Given the description of an element on the screen output the (x, y) to click on. 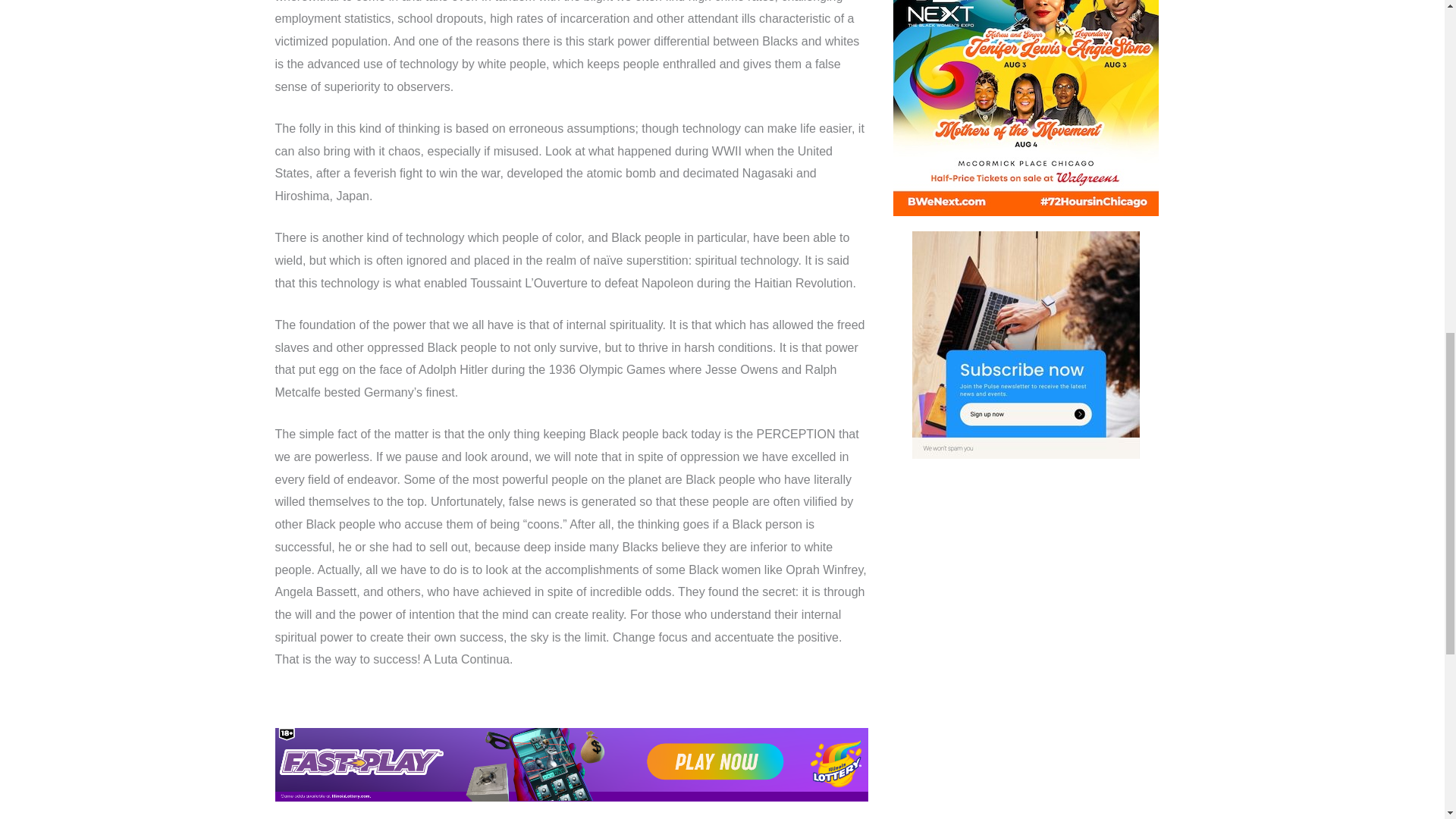
BWE-August 2-4 Line-up- 2024-Mothers of the Movement -Square (1025, 108)
Fast Play-Lottery-Footer-July 2024 (571, 764)
